Given the description of an element on the screen output the (x, y) to click on. 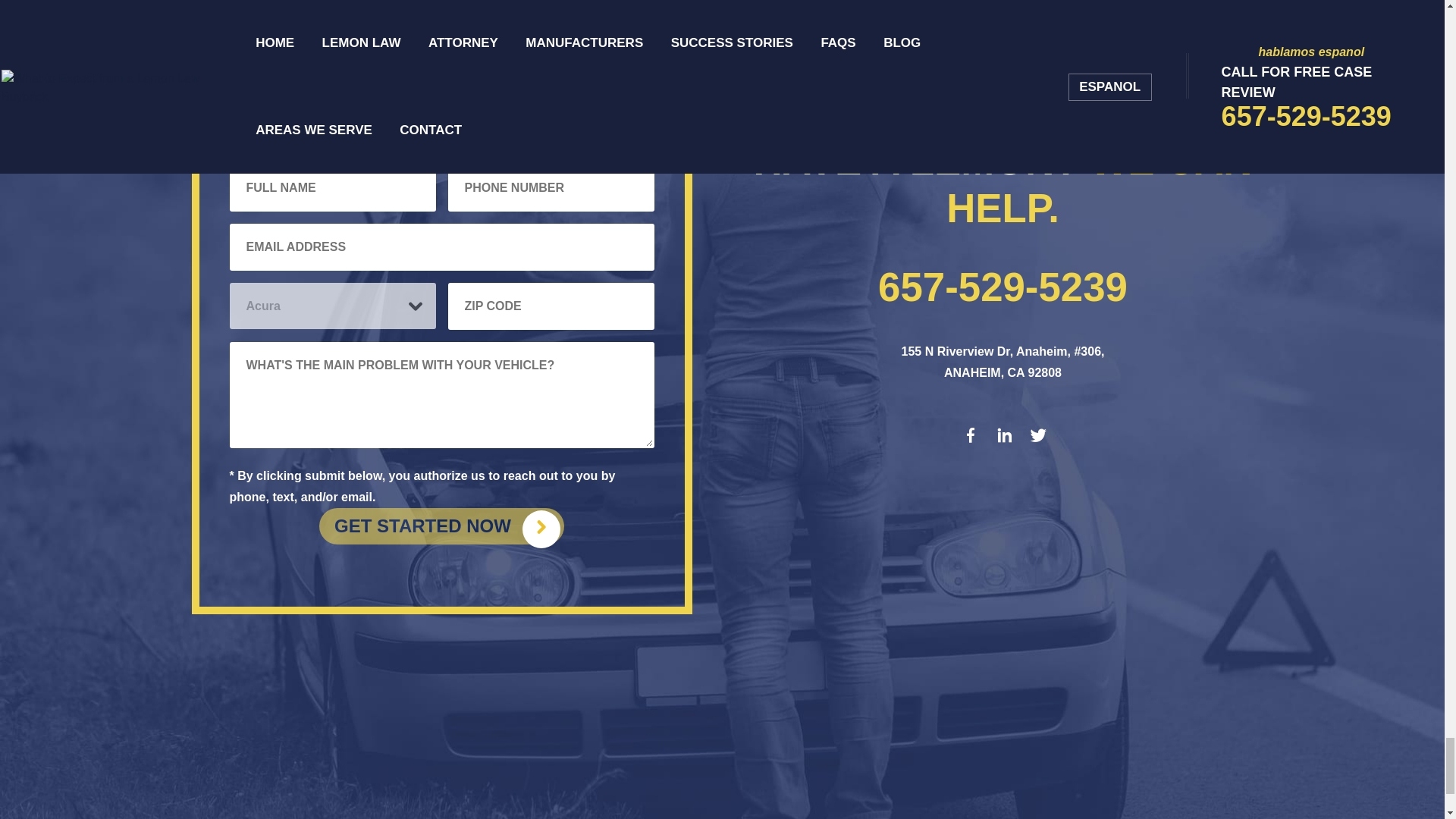
Get started now (441, 525)
